Given the description of an element on the screen output the (x, y) to click on. 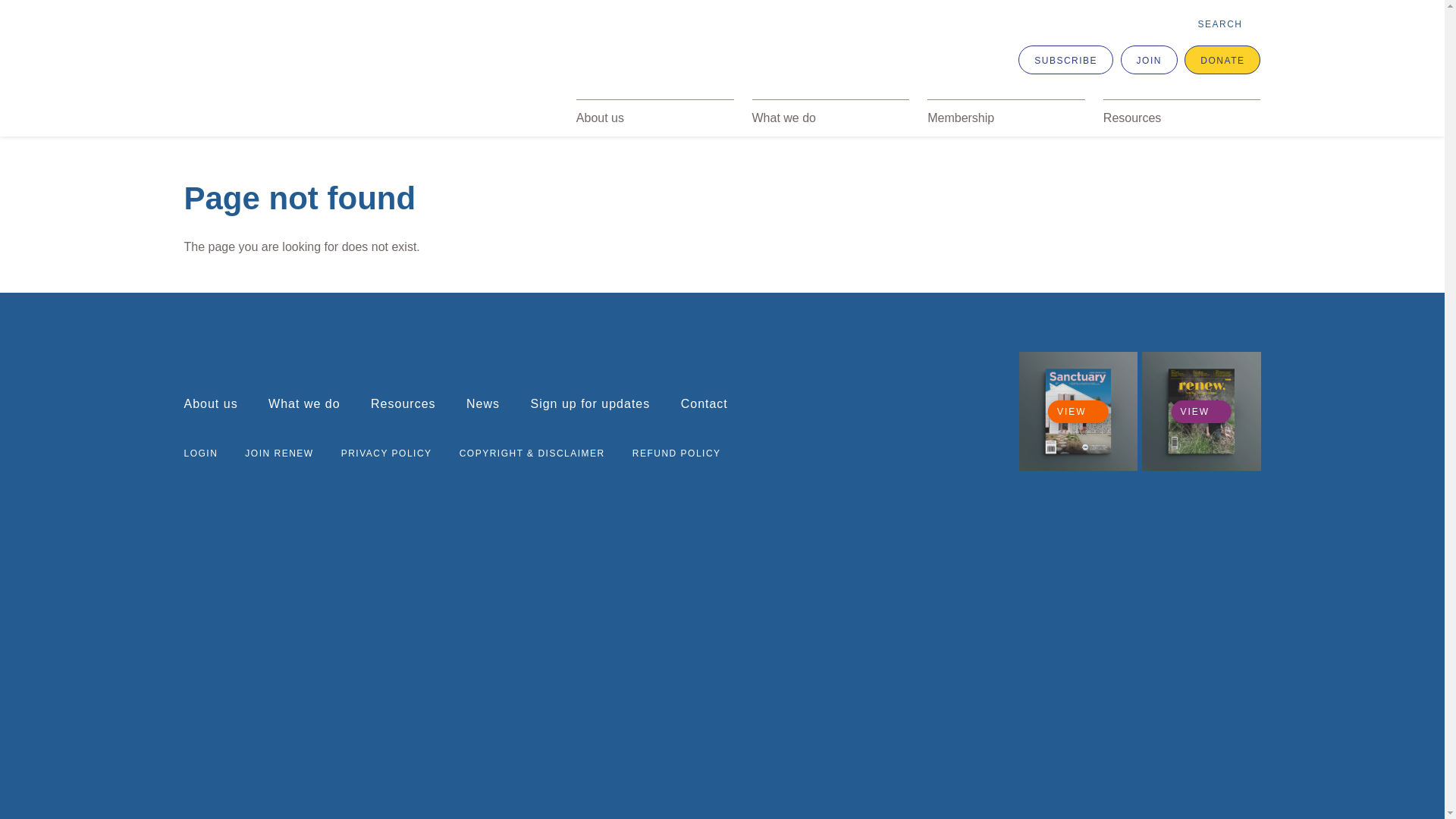
YouTube Element type: hover (975, 446)
COPYRIGHT & DISCLAIMER Element type: text (532, 453)
REFUND POLICY Element type: text (676, 453)
PRIVACY POLICY Element type: text (386, 453)
SEARCH Element type: text (1228, 24)
About us Element type: text (655, 117)
Instagram Element type: hover (922, 446)
Facebook Element type: hover (819, 446)
Back to home Element type: hover (237, 352)
DONATE Element type: text (1222, 59)
JOIN RENEW Element type: text (278, 453)
Sign up for updates Element type: text (589, 403)
VIEW Element type: text (1078, 411)
Resources Element type: text (402, 403)
What we do Element type: text (831, 117)
JOIN Element type: text (1148, 59)
Twitter Element type: hover (870, 446)
LOGIN Element type: text (200, 453)
About us Element type: text (210, 403)
Resources Element type: text (1182, 117)
What we do Element type: text (303, 403)
Membership Element type: text (1006, 117)
VIEW Element type: text (1200, 411)
Contact Element type: text (704, 403)
SUBSCRIBE Element type: text (1065, 59)
Back to home Element type: hover (347, 73)
News Element type: text (482, 403)
HOME Element type: text (201, 122)
